Given the description of an element on the screen output the (x, y) to click on. 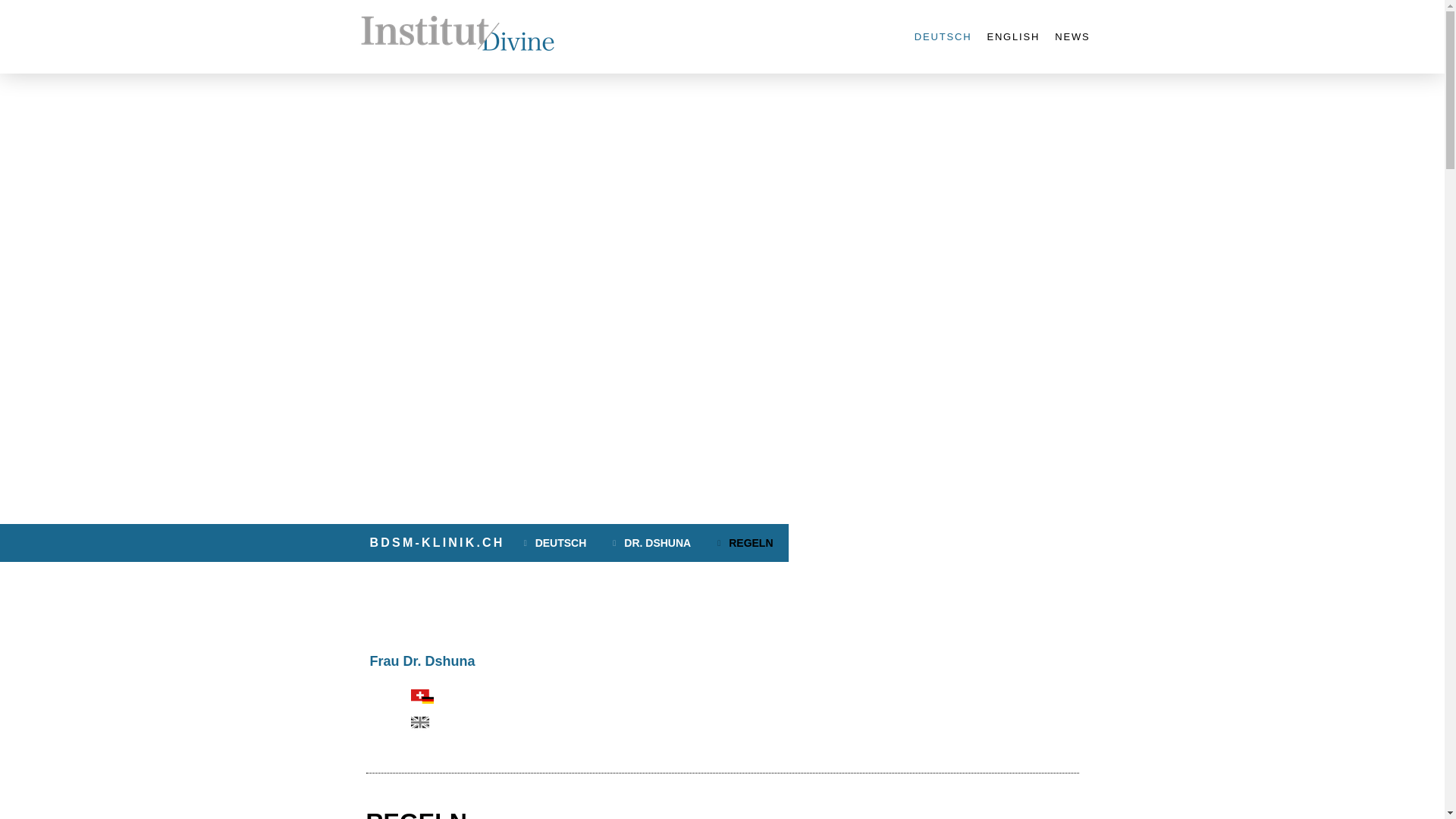
REGELN Element type: text (746, 542)
DEUTSCH Element type: text (942, 36)
BDSM-KLINIK.CH Element type: text (437, 542)
ENGLISH Element type: text (1013, 36)
DR. DSHUNA Element type: text (653, 542)
NEWS Element type: text (1072, 36)
DEUTSCH Element type: text (557, 542)
